Given the description of an element on the screen output the (x, y) to click on. 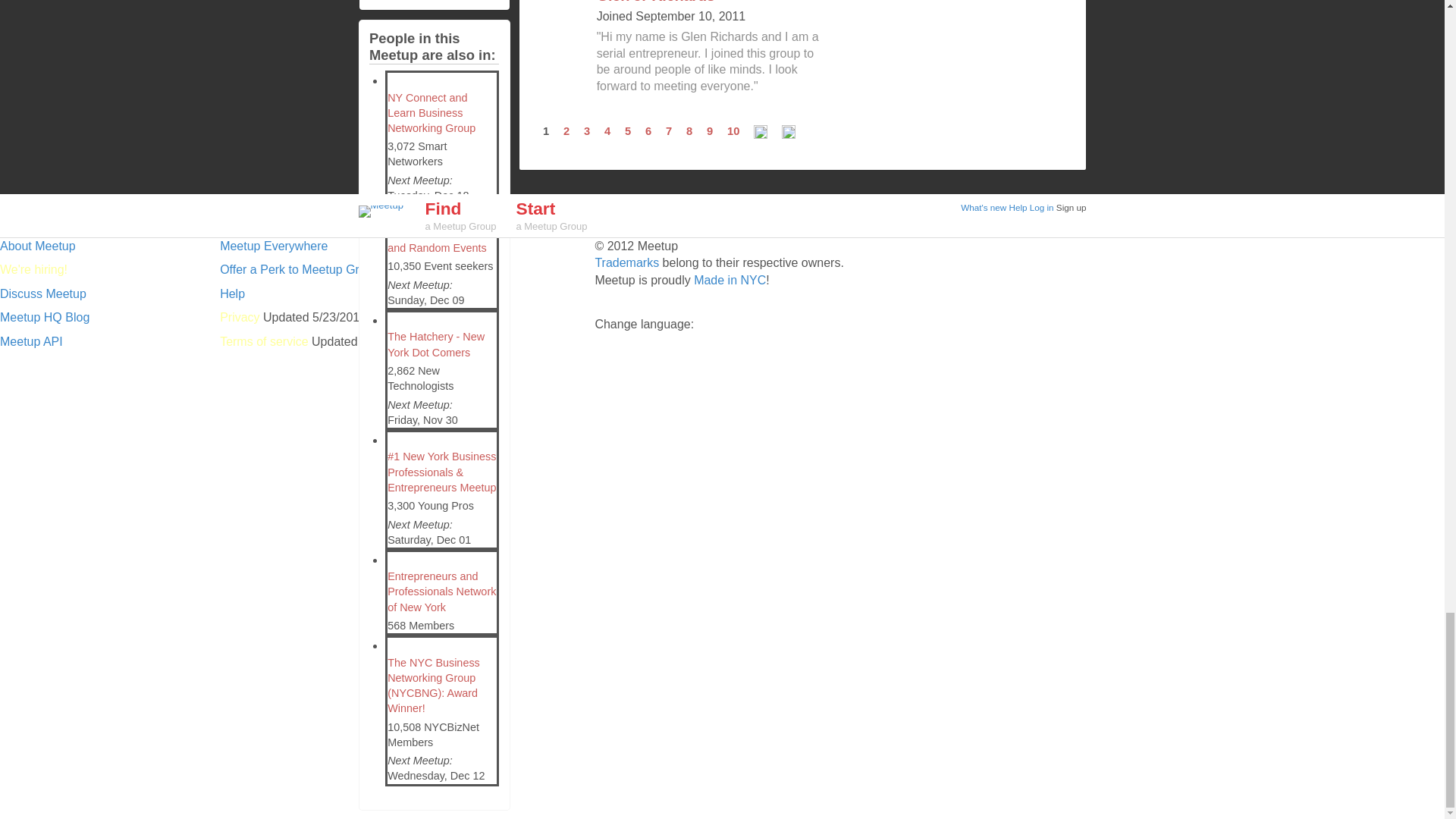
Glen Jr Richards (655, 2)
